Given the description of an element on the screen output the (x, y) to click on. 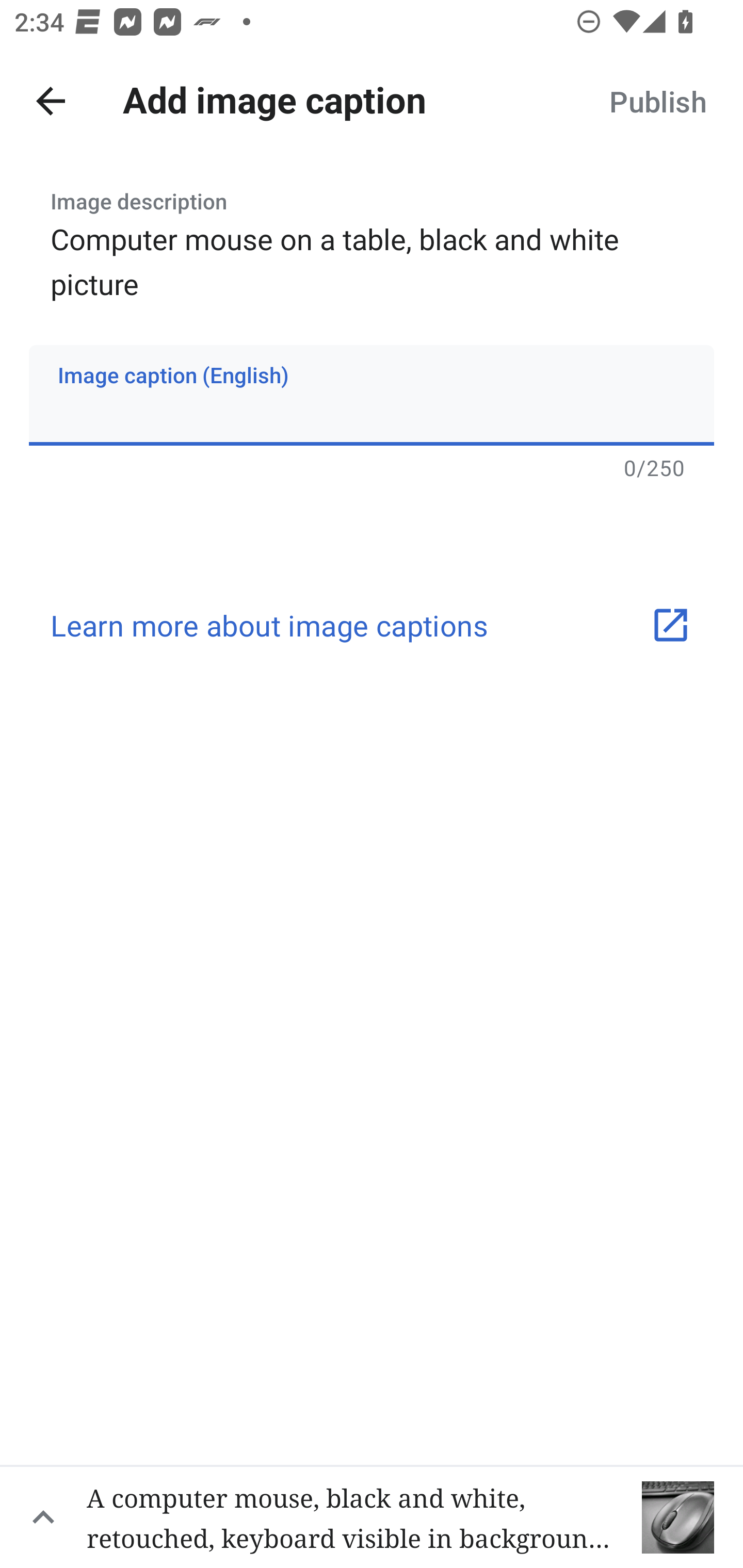
Cancel (50, 101)
Publish (657, 101)
Image caption (English) (371, 394)
Learn more about image captions (371, 624)
